Given the description of an element on the screen output the (x, y) to click on. 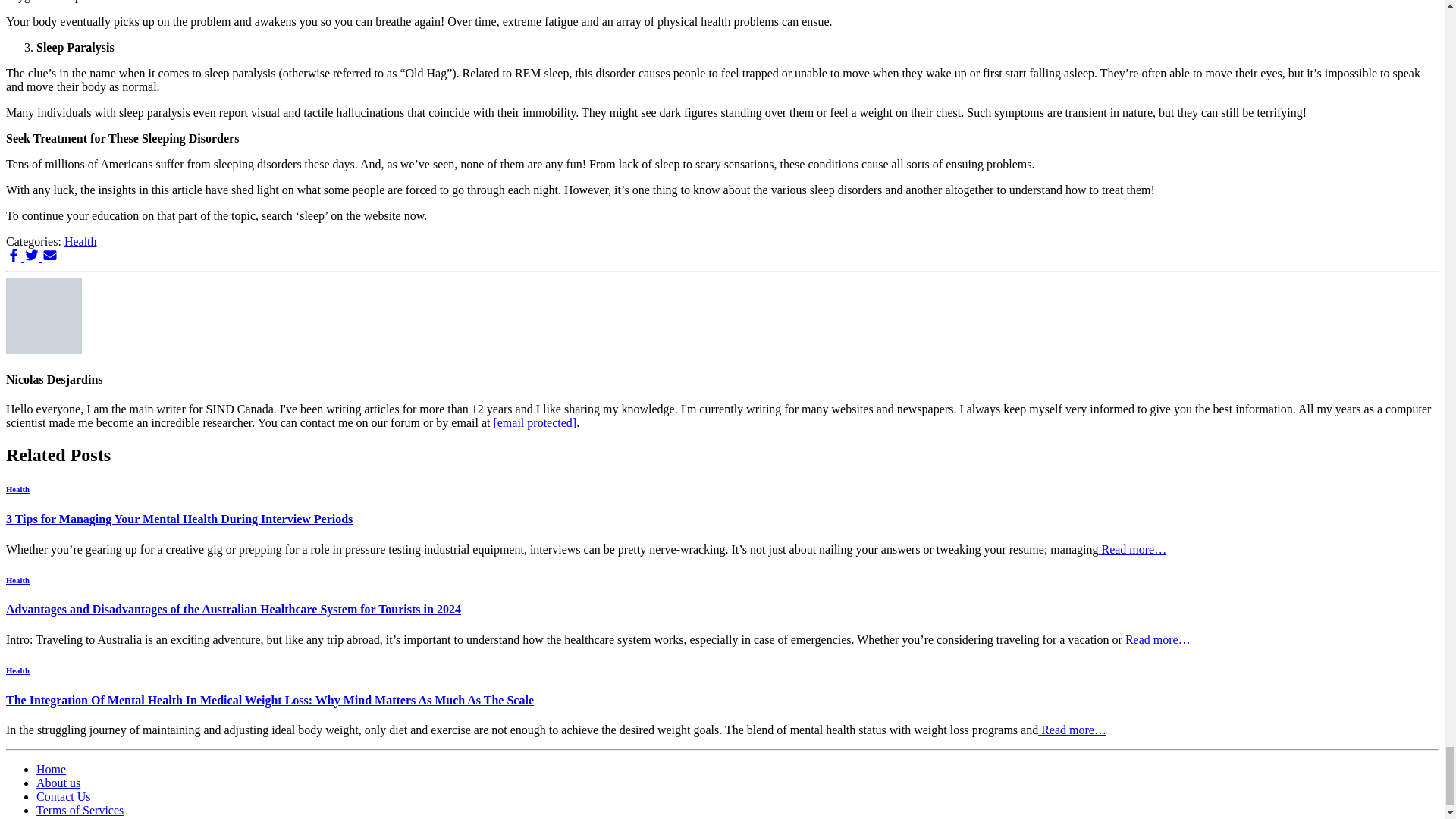
Health (17, 488)
Health (17, 578)
Health (80, 241)
Health (17, 669)
